Given the description of an element on the screen output the (x, y) to click on. 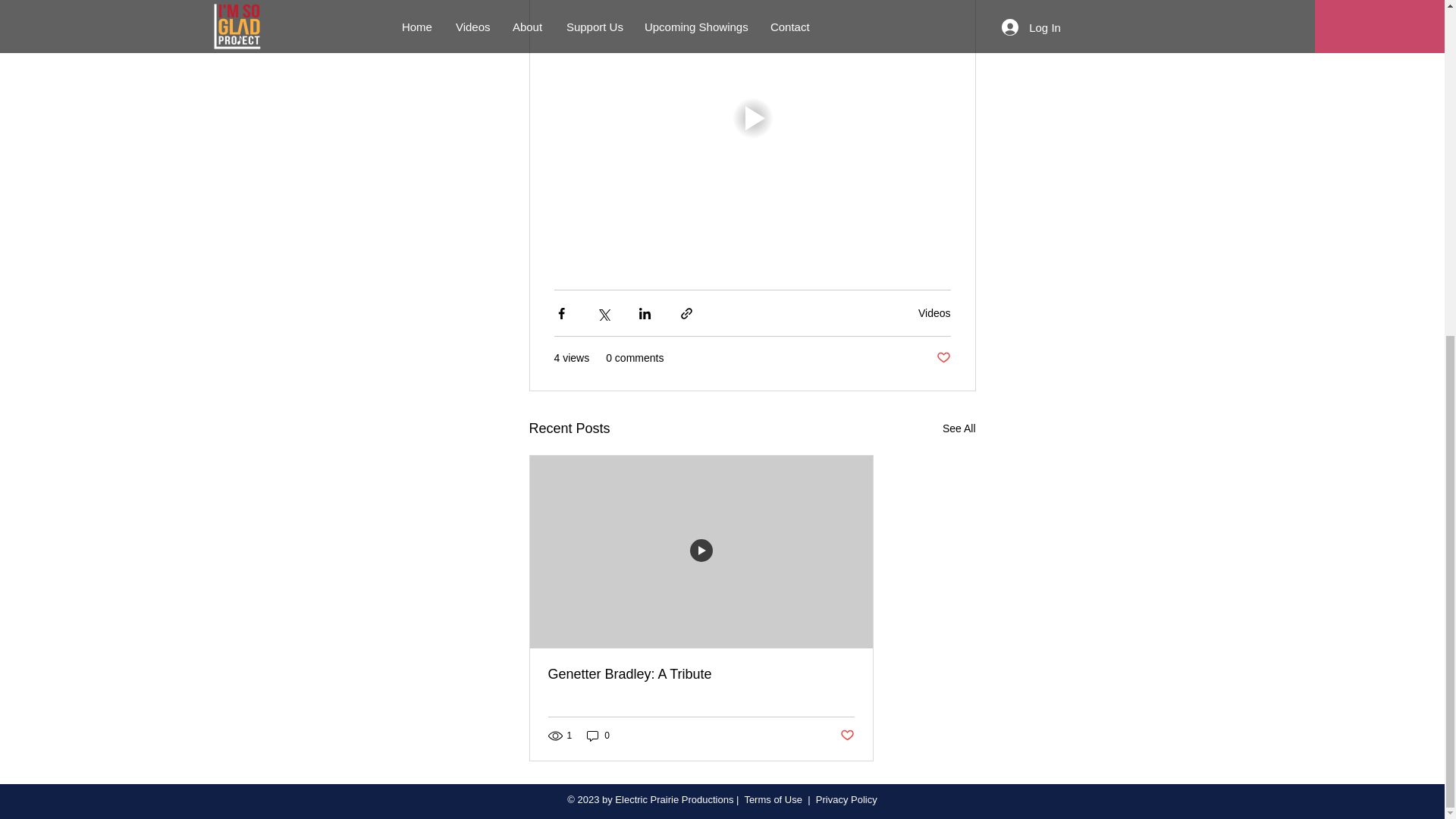
Genetter Bradley: A Tribute (700, 674)
Terms of Use (773, 799)
Post not marked as liked (847, 735)
Post not marked as liked (943, 358)
0 (598, 735)
Videos (934, 313)
Privacy Policy (846, 799)
See All (958, 428)
